Given the description of an element on the screen output the (x, y) to click on. 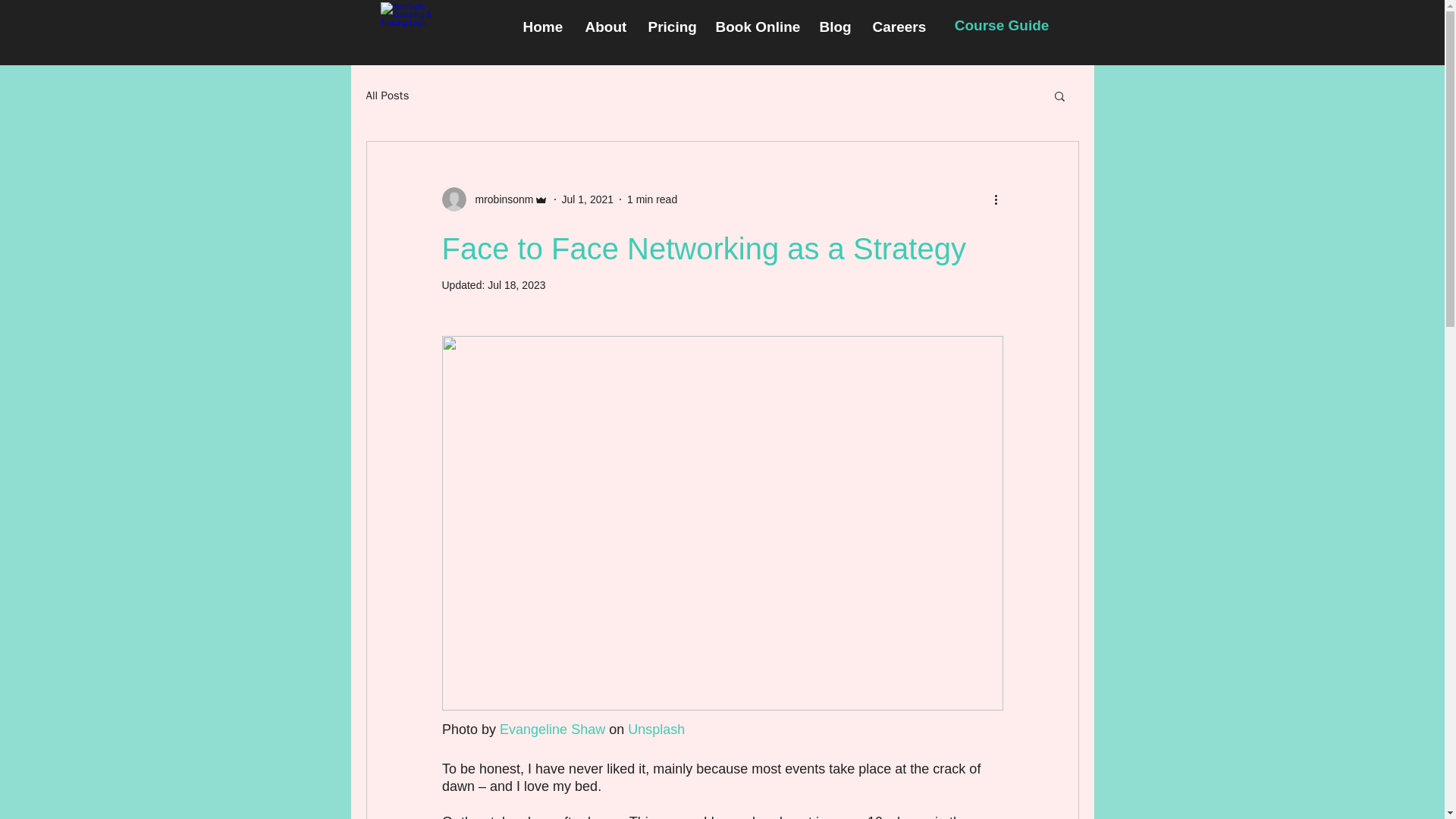
About (604, 26)
Careers (897, 26)
Home (542, 26)
Evangeline Shaw (552, 729)
Jul 18, 2023 (515, 285)
Unsplash (655, 729)
Blog (834, 26)
mrobinsonm (498, 198)
All Posts (387, 94)
mrobinsonm (494, 199)
